Given the description of an element on the screen output the (x, y) to click on. 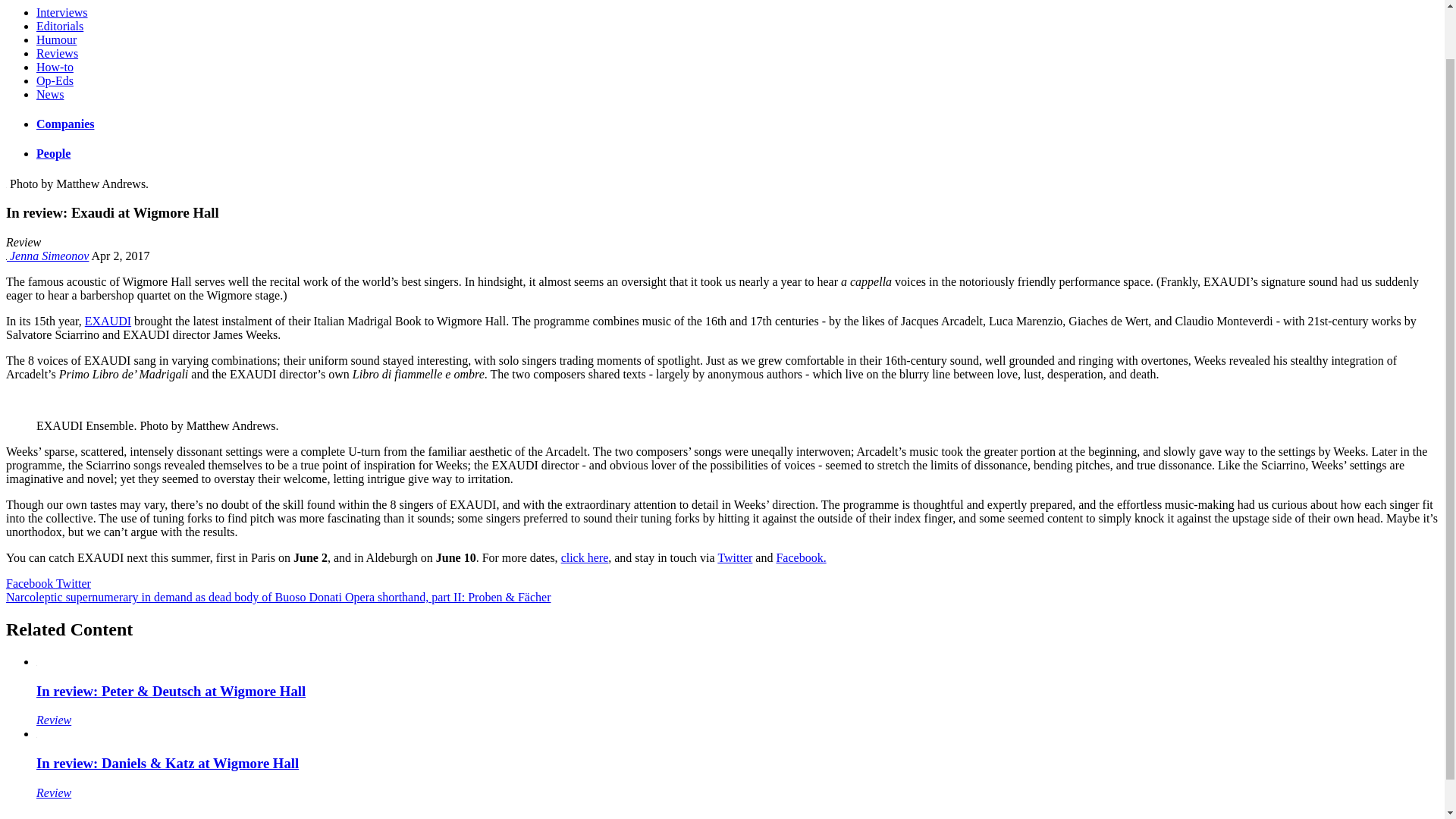
Reviews (57, 52)
Twitter (73, 583)
In review: Exaudi at Wigmore Hall (112, 212)
Facebook (30, 583)
Interviews (61, 11)
Companies (65, 123)
Jenna Simeonov (46, 255)
News (50, 93)
Op-Eds (55, 80)
How-to (55, 66)
